Given the description of an element on the screen output the (x, y) to click on. 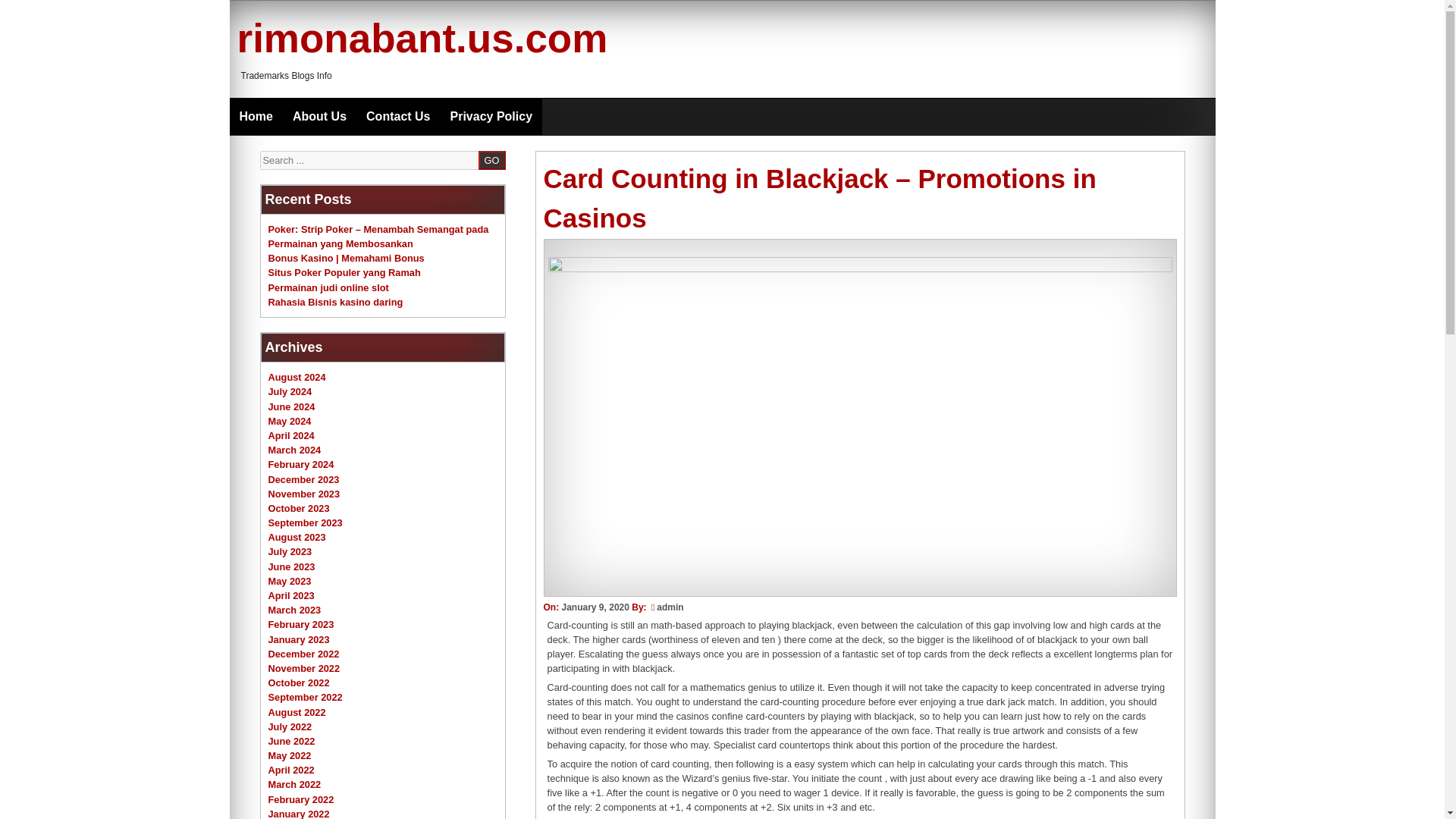
April 2024 (290, 435)
GO (492, 158)
March 2024 (294, 449)
December 2023 (303, 478)
Situs Poker Populer yang Ramah (343, 272)
February 2024 (300, 464)
Home (255, 116)
GO (492, 158)
June 2024 (291, 406)
About Us (319, 116)
January 9, 2020 (594, 606)
August 2024 (296, 377)
May 2024 (289, 420)
Privacy Policy (492, 116)
GO (492, 158)
